Given the description of an element on the screen output the (x, y) to click on. 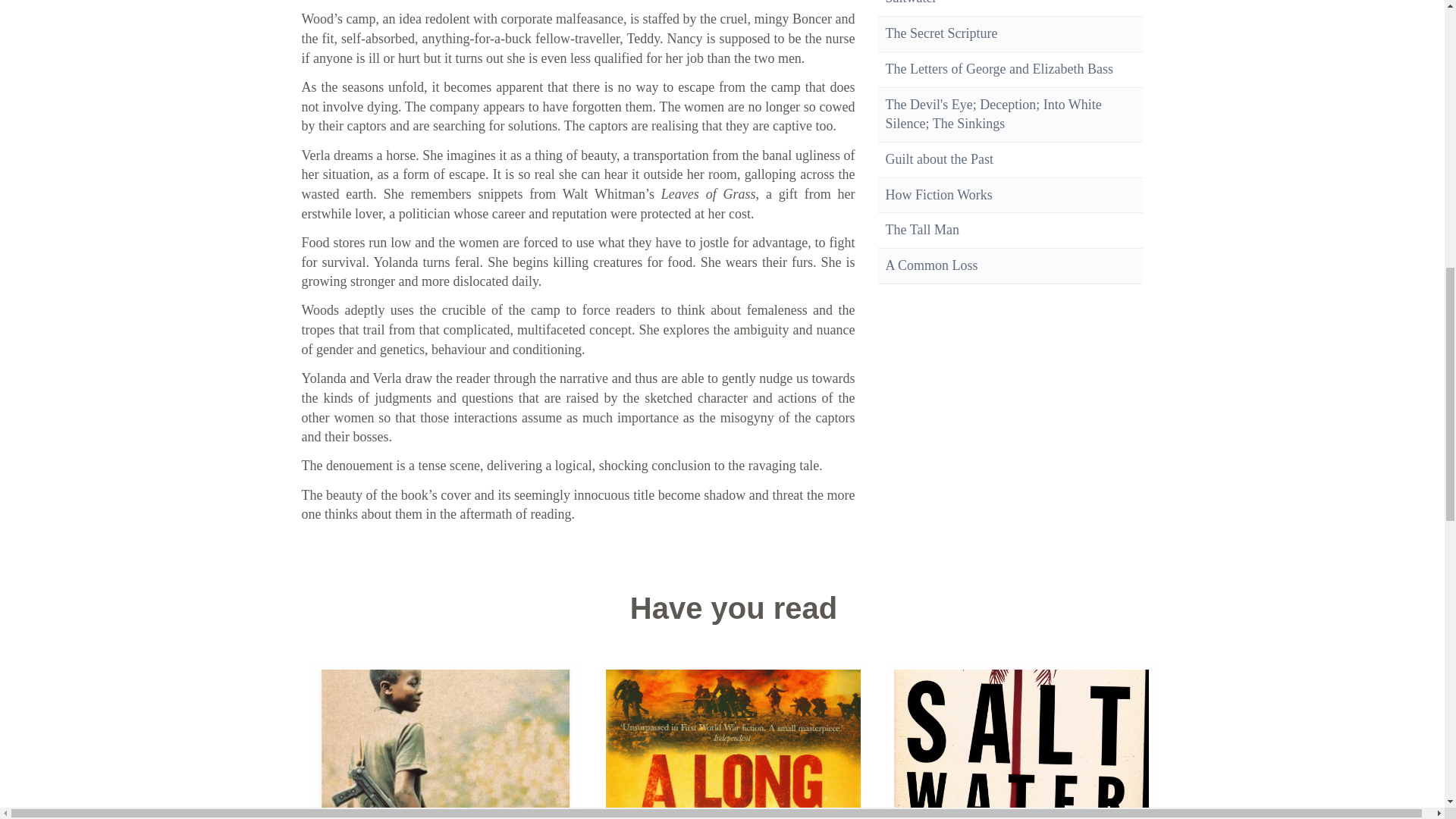
The Tall Man (922, 229)
Saltwater (911, 2)
Guilt about the Past (939, 159)
A Common Loss (931, 264)
The Devil's Eye; Deception; Into White Silence; The Sinkings (993, 114)
The Letters of George and Elizabeth Bass (999, 68)
How Fiction Works (938, 194)
The Secret Scripture (941, 32)
